Given the description of an element on the screen output the (x, y) to click on. 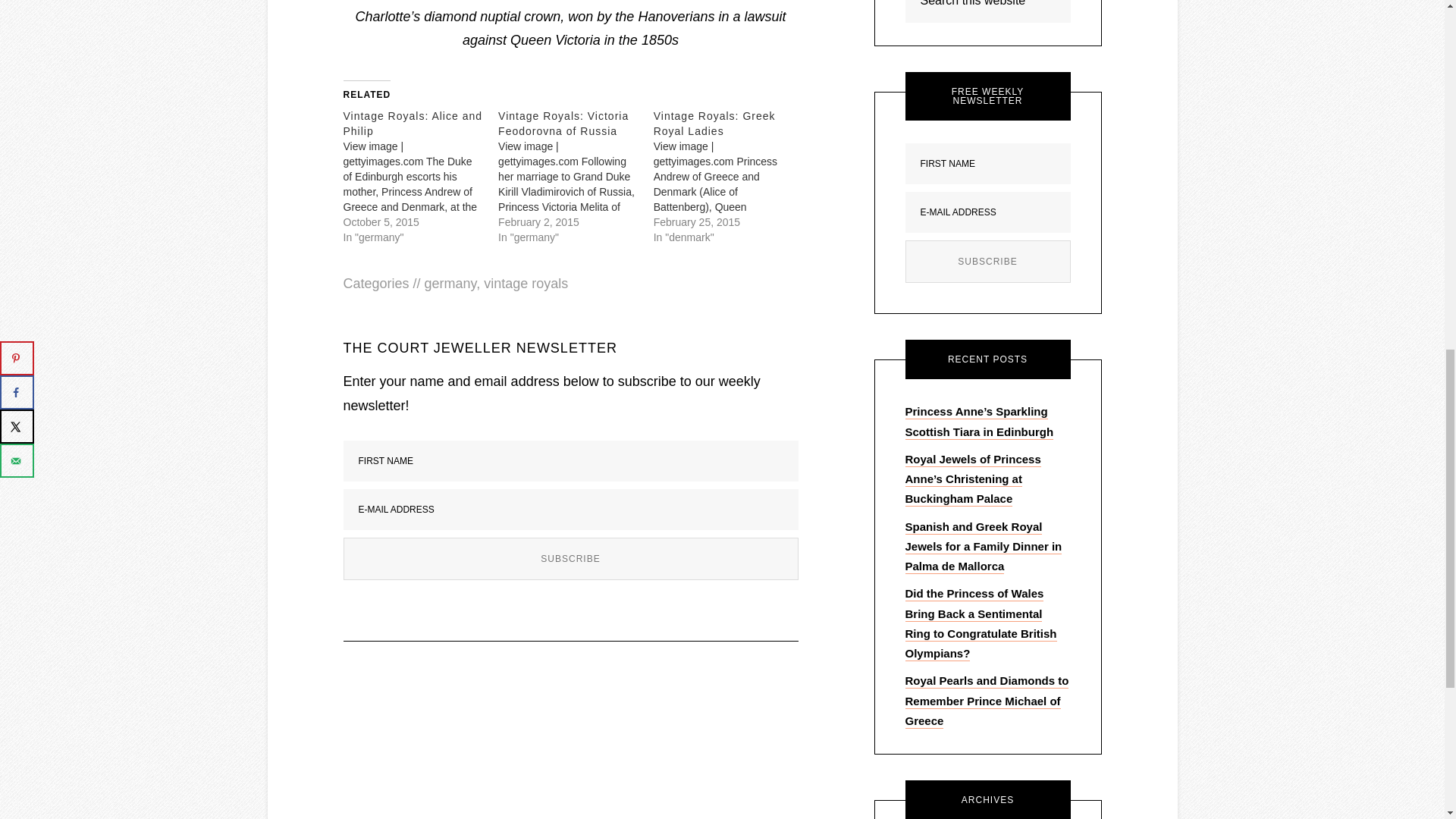
Subscribe (987, 261)
Vintage Royals: Greek Royal Ladies (714, 122)
Vintage Royals: Alice and Philip (411, 122)
Vintage Royals: Victoria Feodorovna of Russia (575, 175)
Vintage Royals: Victoria Feodorovna of Russia (562, 122)
Subscribe (569, 558)
vintage royals (525, 283)
Vintage Royals: Greek Royal Ladies (731, 175)
